Given the description of an element on the screen output the (x, y) to click on. 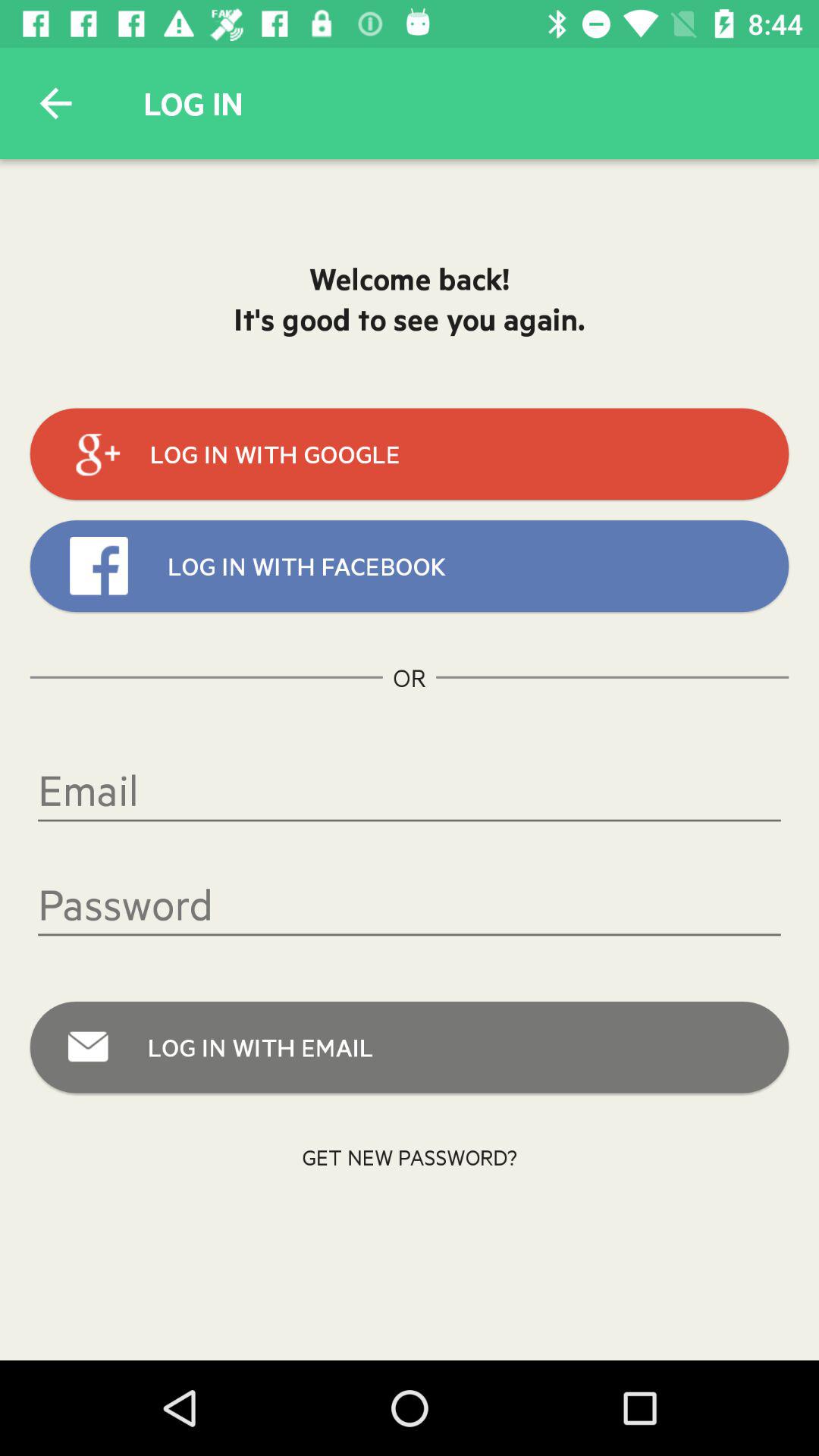
open the icon below the or icon (409, 789)
